Given the description of an element on the screen output the (x, y) to click on. 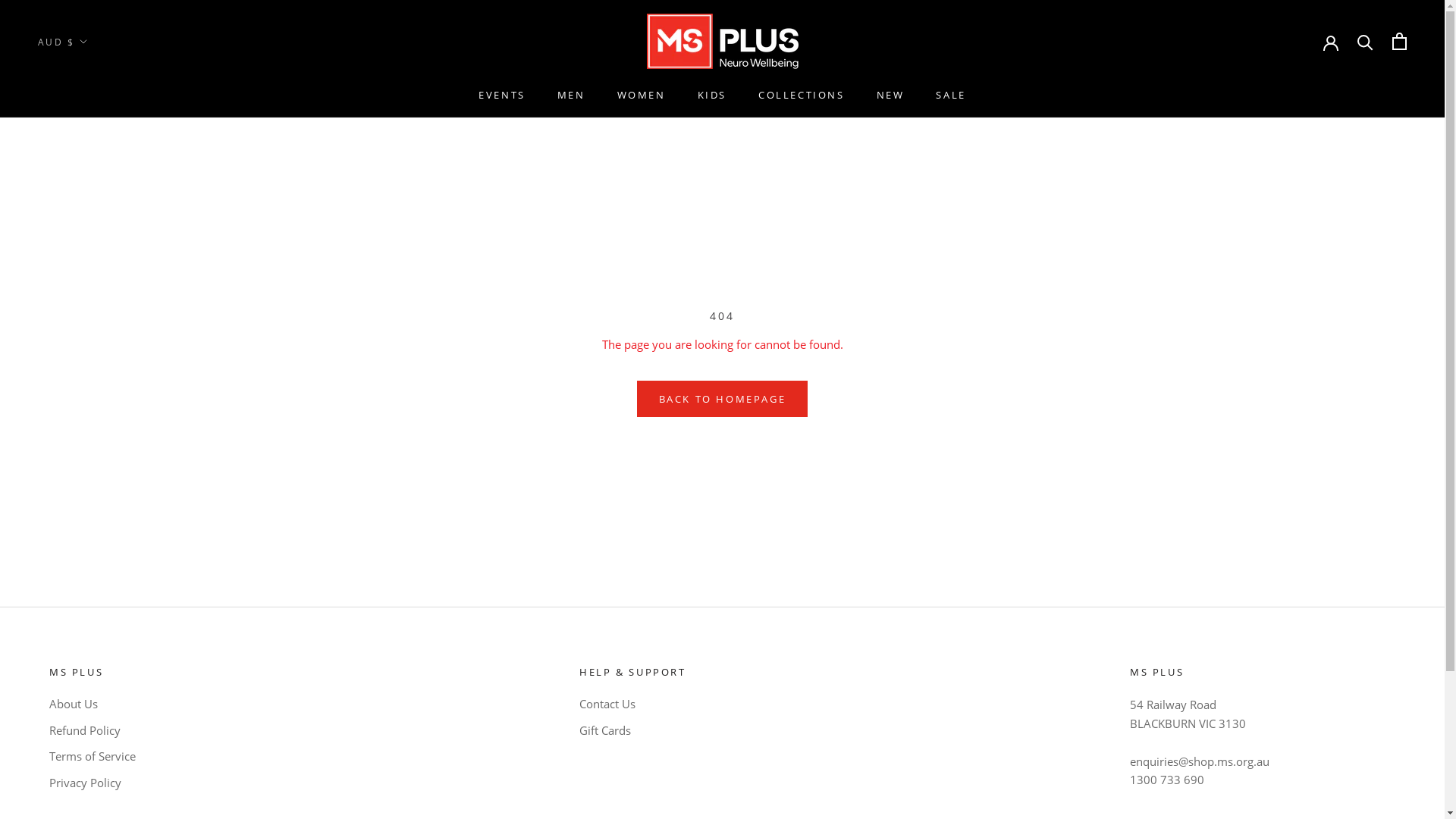
BND Element type: text (89, 369)
CHF Element type: text (89, 527)
ALL Element type: text (89, 120)
BGN Element type: text (89, 324)
Terms of Service Element type: text (92, 756)
DOP Element type: text (89, 685)
EUR Element type: text (89, 776)
AWG Element type: text (89, 211)
COLLECTIONS
COLLECTIONS Element type: text (801, 94)
AZN Element type: text (89, 233)
BZD Element type: text (89, 459)
BAM Element type: text (89, 256)
CRC Element type: text (89, 572)
EGP Element type: text (89, 731)
FJD Element type: text (89, 798)
Privacy Policy Element type: text (92, 782)
Refund Policy Element type: text (92, 730)
NEW
NEW Element type: text (890, 94)
DKK Element type: text (89, 663)
CVE Element type: text (89, 595)
AFN Element type: text (89, 98)
CDF Element type: text (89, 505)
About Us Element type: text (92, 703)
MEN
MEN Element type: text (571, 94)
BDT Element type: text (89, 301)
DZD Element type: text (89, 708)
AMD Element type: text (89, 143)
BBD Element type: text (89, 279)
CZK Element type: text (89, 618)
Contact Us Element type: text (632, 703)
BOB Element type: text (89, 392)
BWP Element type: text (89, 437)
BACK TO HOMEPAGE Element type: text (722, 398)
AUD $ Element type: text (62, 42)
Gift Cards Element type: text (632, 730)
ETB Element type: text (89, 753)
SALE
SALE Element type: text (950, 94)
AUD Element type: text (89, 188)
BSD Element type: text (89, 414)
ANG Element type: text (89, 166)
WOMEN
WOMEN Element type: text (641, 94)
BIF Element type: text (89, 346)
AED Element type: text (89, 75)
DJF Element type: text (89, 640)
EVENTS
EVENTS Element type: text (501, 94)
CNY Element type: text (89, 550)
CAD Element type: text (89, 482)
KIDS
KIDS Element type: text (711, 94)
